Given the description of an element on the screen output the (x, y) to click on. 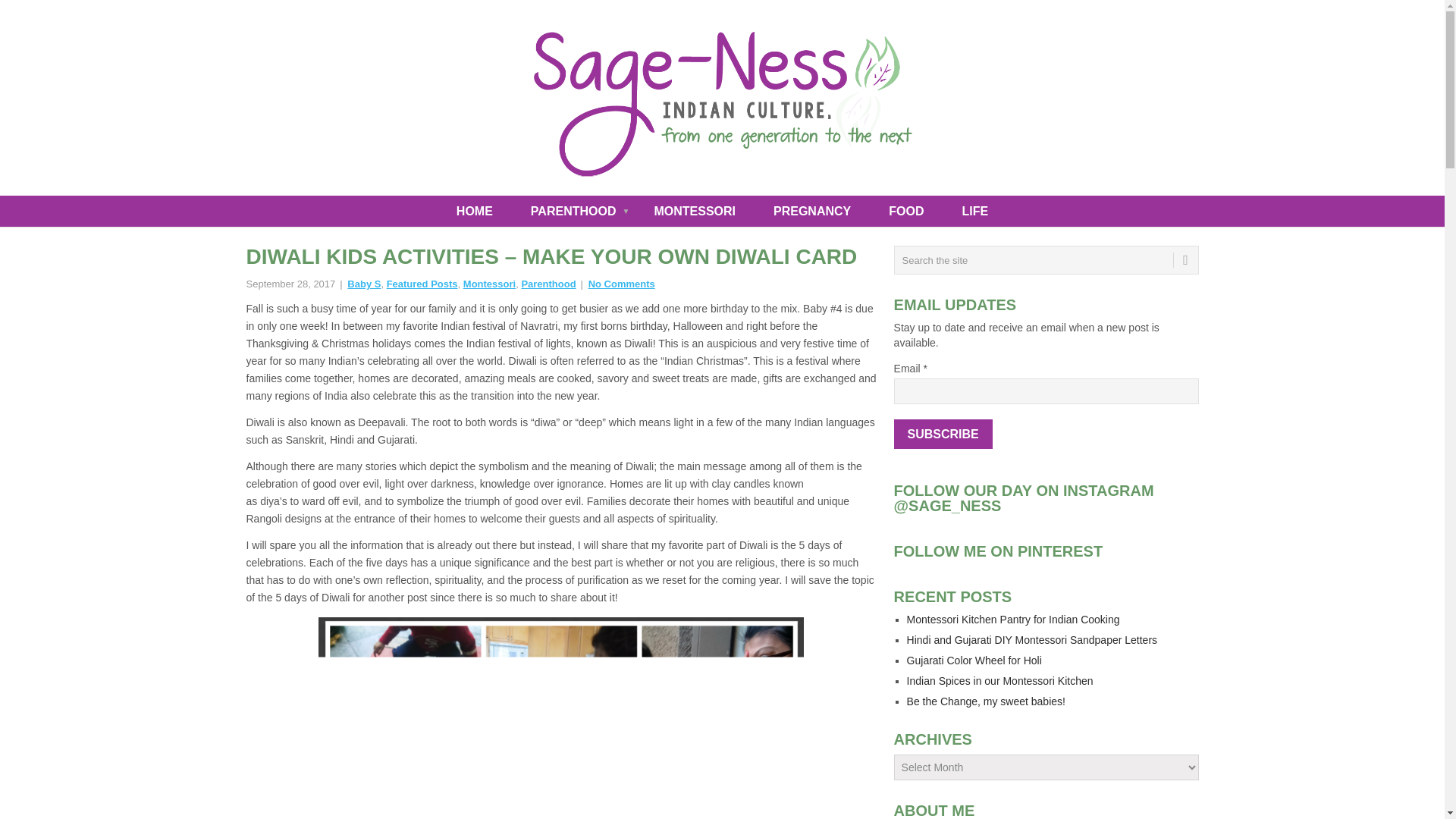
No Comments (621, 283)
Subscribe (942, 433)
Search the site (1045, 259)
FOOD (909, 211)
Montessori (489, 283)
Parenthood (548, 283)
LIFE (974, 211)
MONTESSORI (698, 211)
PREGNANCY (815, 211)
HOME (478, 211)
Baby S (363, 283)
PARENTHOOD (577, 211)
Featured Posts (422, 283)
